Given the description of an element on the screen output the (x, y) to click on. 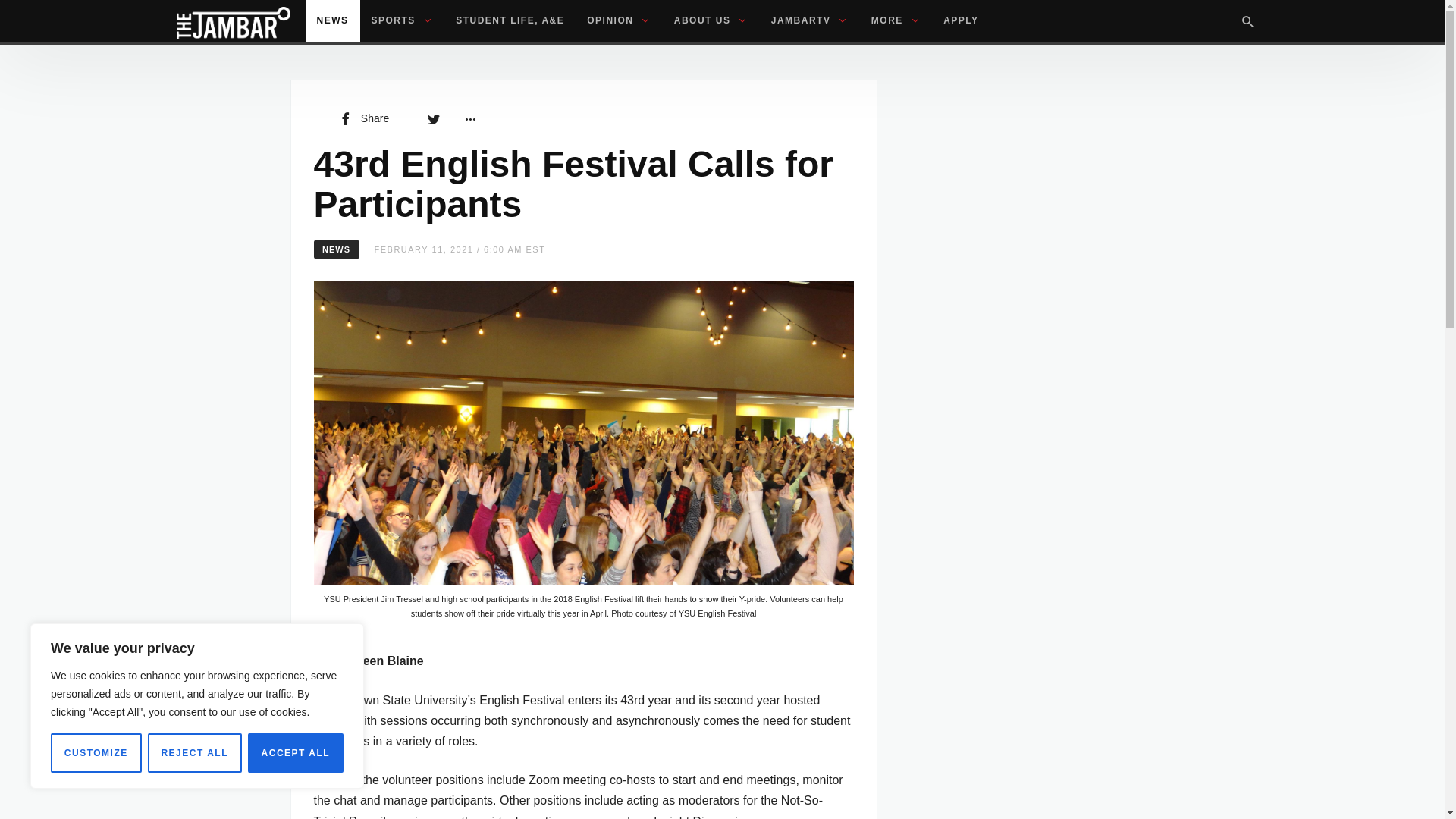
MORE (895, 20)
ABOUT US (711, 20)
Share on Facebook (363, 118)
NEWS (331, 20)
More (469, 118)
JAMBARTV (810, 20)
Share on Twitter (433, 118)
ACCEPT ALL (295, 753)
CUSTOMIZE (95, 753)
OPINION (618, 20)
SPORTS (401, 20)
View all posts in News (336, 249)
REJECT ALL (194, 753)
